Given the description of an element on the screen output the (x, y) to click on. 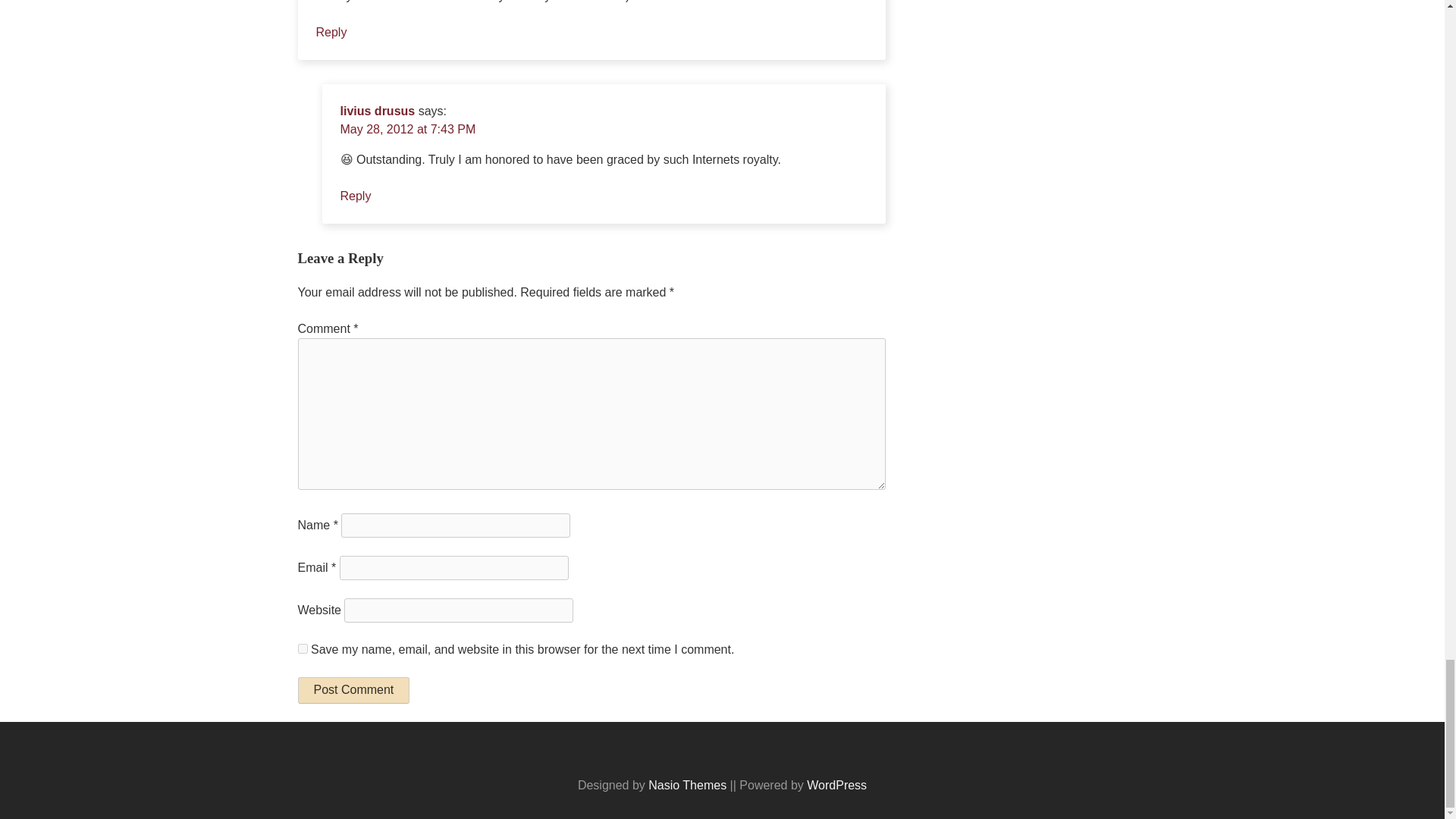
yes (302, 648)
Post Comment (353, 690)
